Given the description of an element on the screen output the (x, y) to click on. 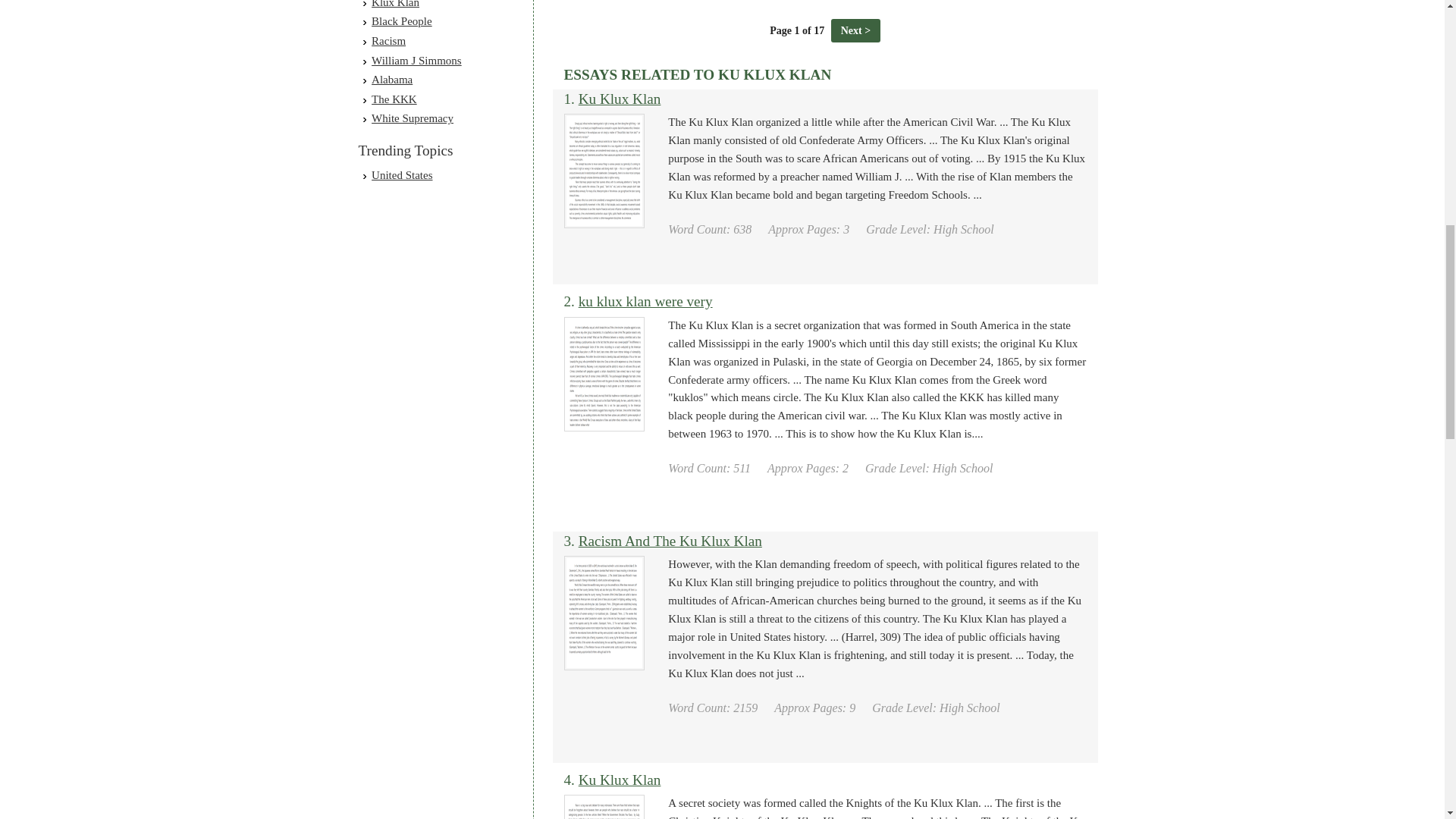
Alabama (391, 79)
The KKK (393, 99)
United States (401, 174)
Black People (401, 21)
Ku Klux Klan (619, 98)
Racism (388, 40)
William J Simmons (416, 60)
Klux Klan (395, 4)
White Supremacy (411, 118)
